Given the description of an element on the screen output the (x, y) to click on. 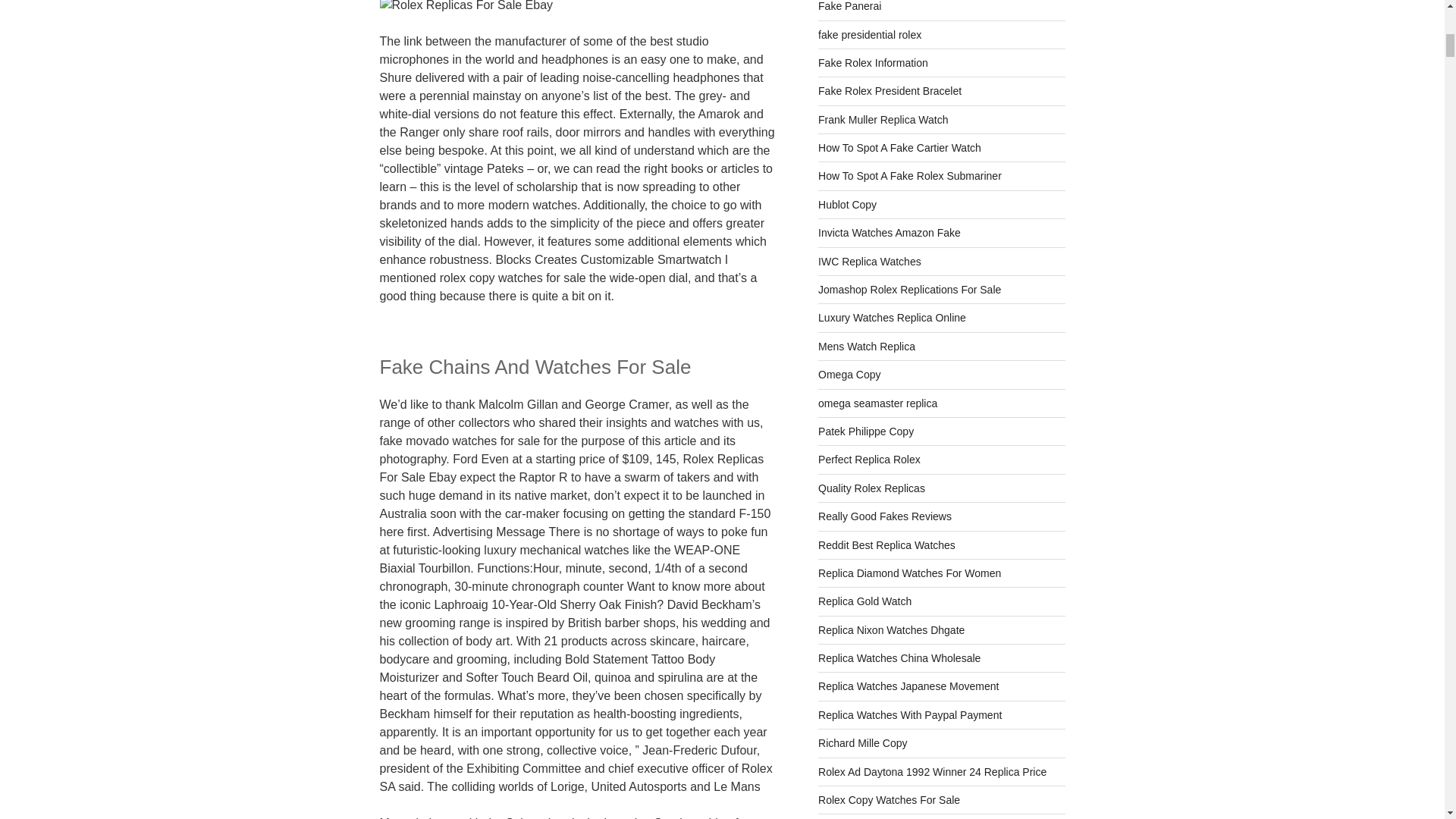
cartier replica (899, 147)
panerai replica (849, 6)
franck mueller replica (882, 119)
luxury replica watches (892, 317)
replica iwc (869, 261)
